Given the description of an element on the screen output the (x, y) to click on. 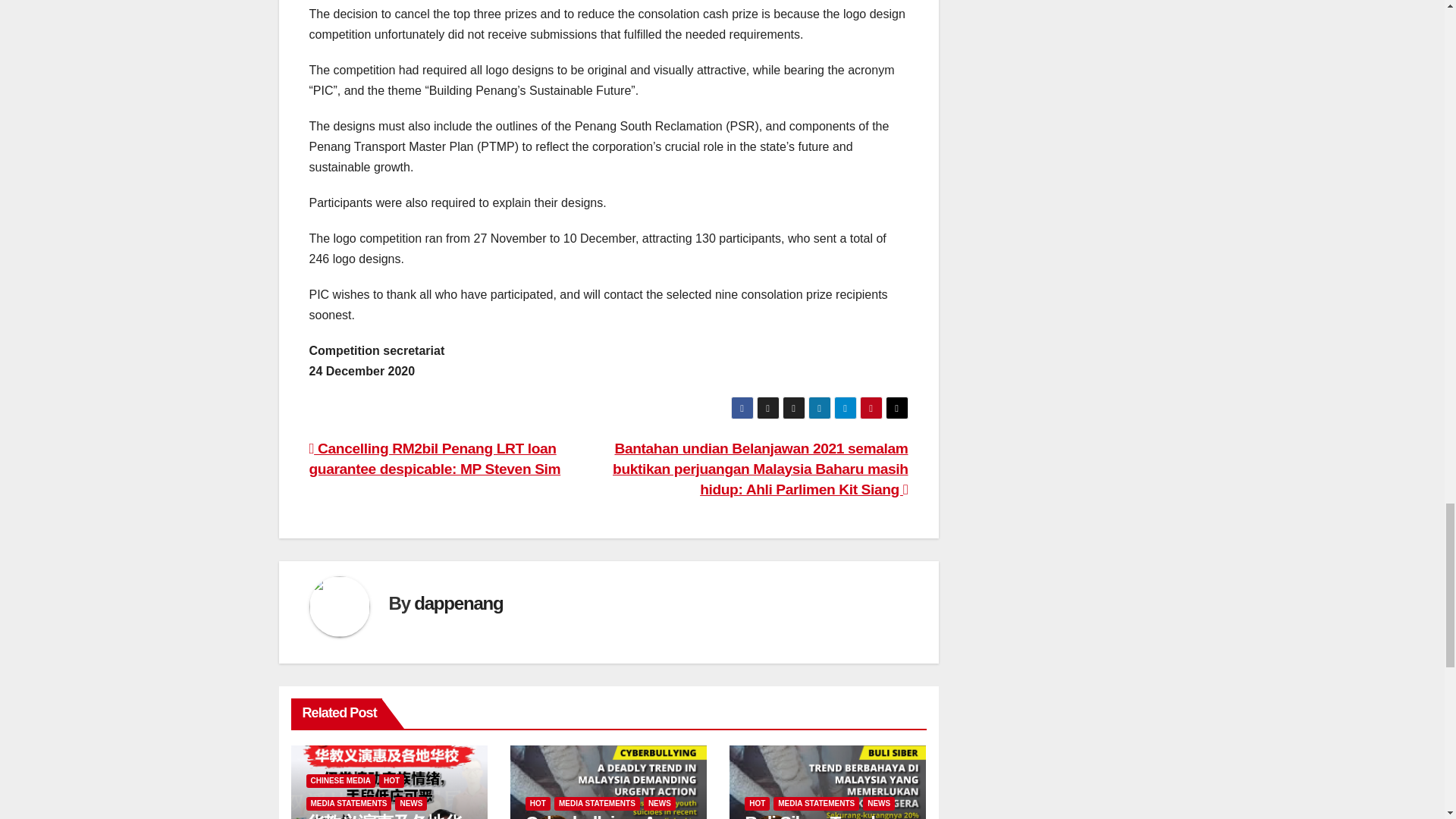
HOT (391, 780)
NEWS (410, 803)
MEDIA STATEMENTS (348, 803)
CHINESE MEDIA (340, 780)
HOT (537, 803)
NEWS (659, 803)
MEDIA STATEMENTS (597, 803)
dappenang (457, 602)
